Given the description of an element on the screen output the (x, y) to click on. 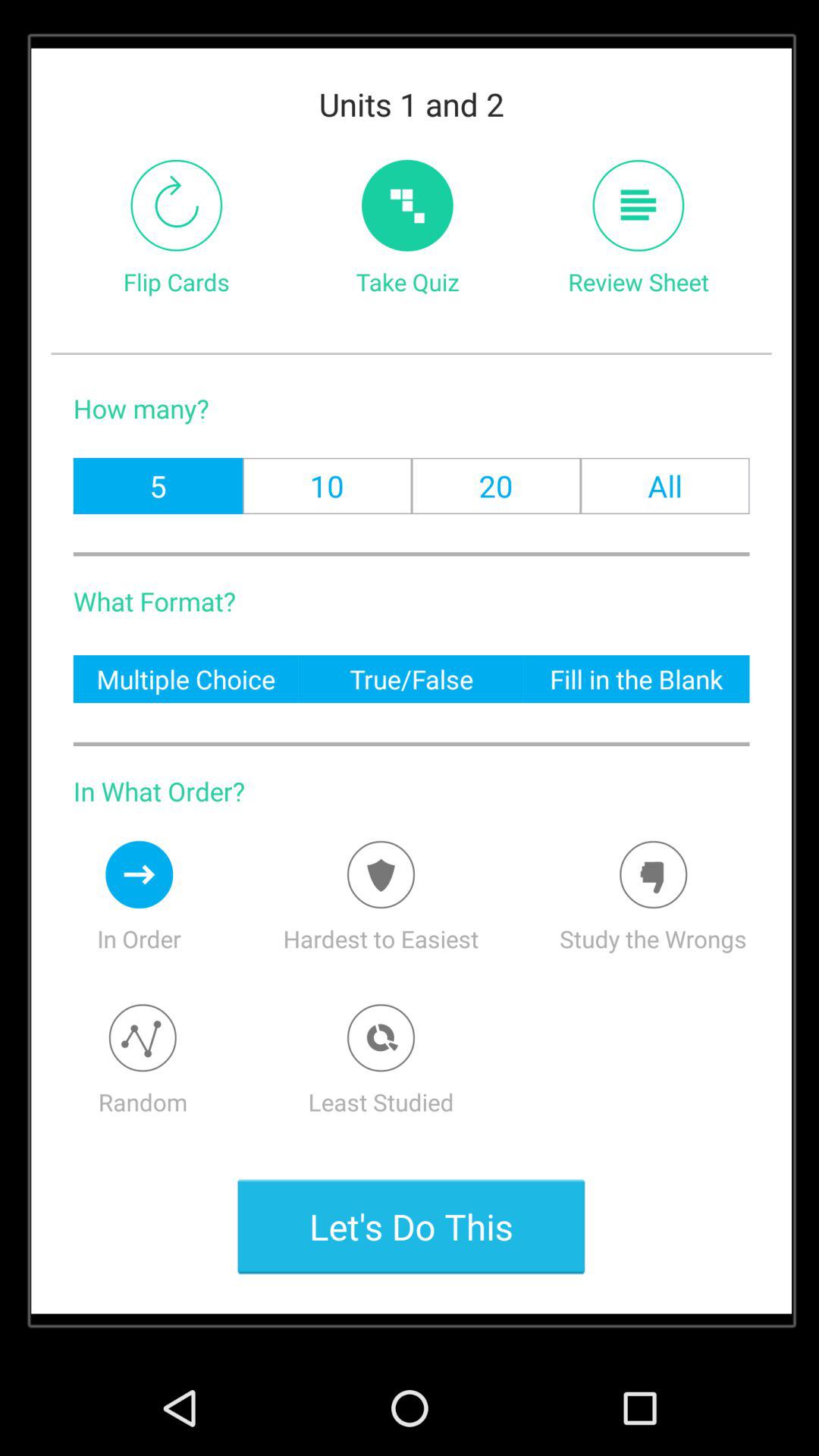
open the item to the left of true/false (185, 678)
